Given the description of an element on the screen output the (x, y) to click on. 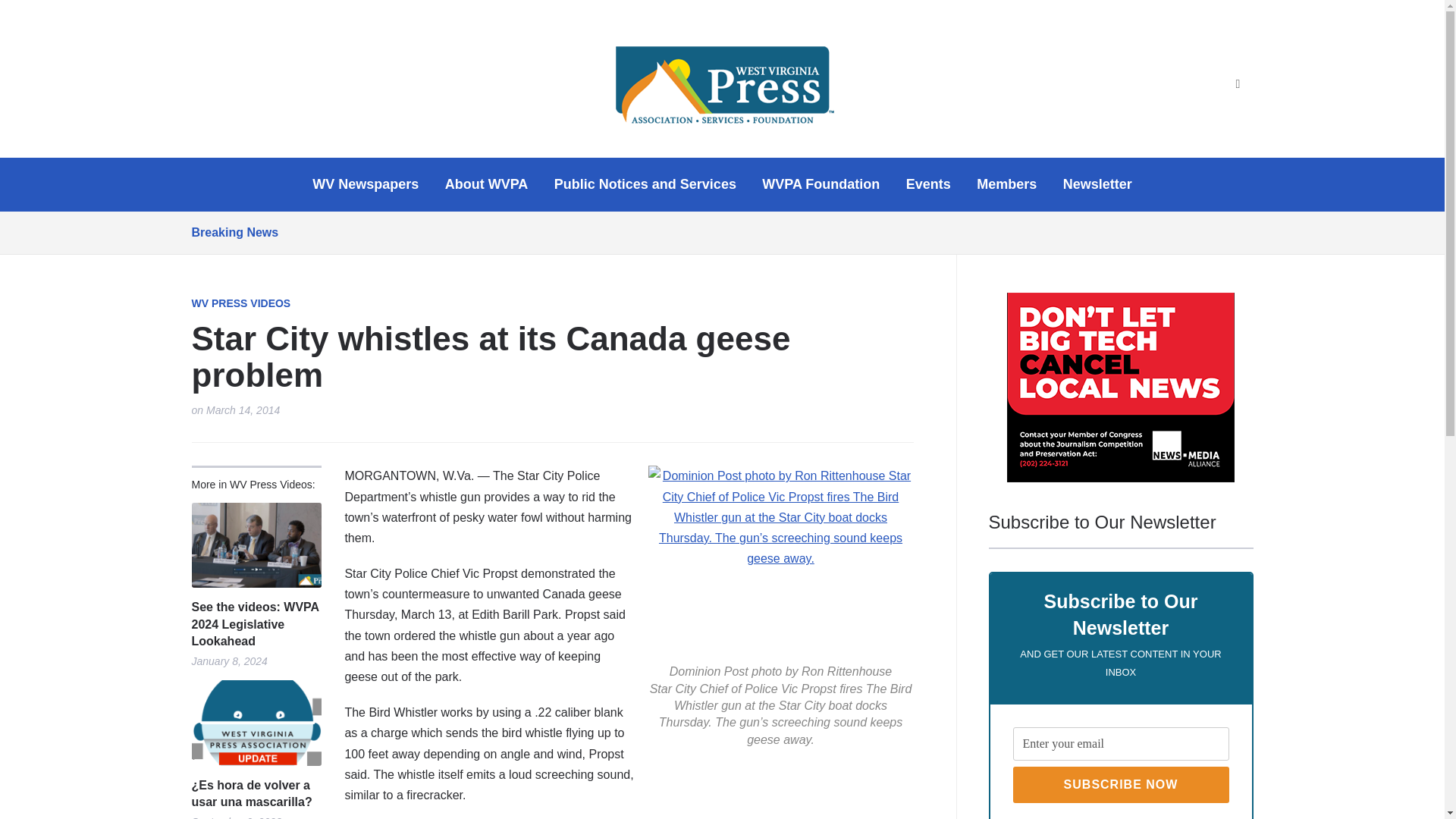
Subscribe Now (1120, 784)
Public Notices and Services (645, 184)
Search (1237, 84)
Permalink to See the videos: WVPA 2024 Legislative Lookahead (255, 545)
Permalink to See the videos: WVPA 2024 Legislative Lookahead (255, 624)
WV Newspapers (366, 184)
About WVPA (486, 184)
